Given the description of an element on the screen output the (x, y) to click on. 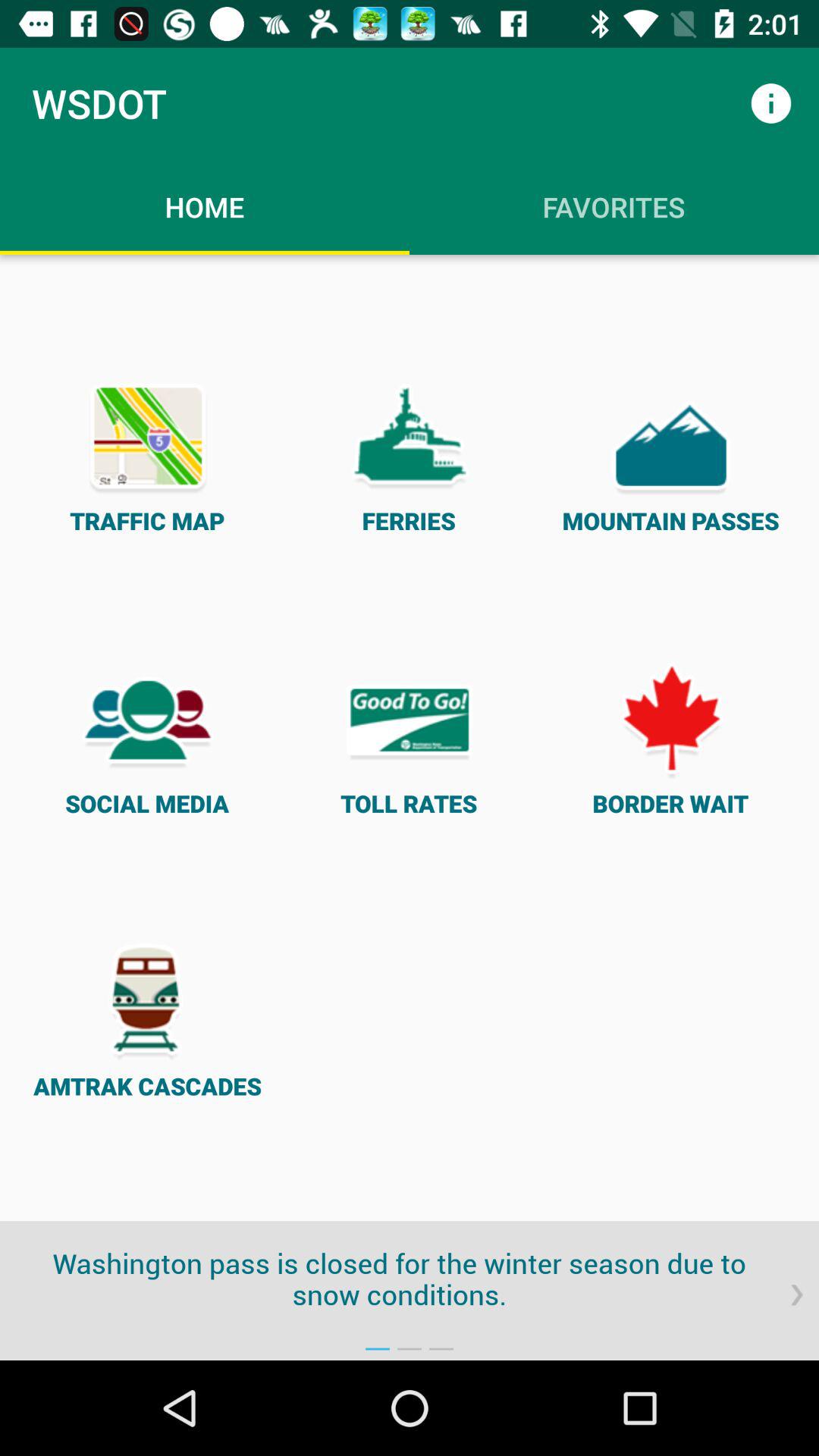
press washington pass is (409, 1279)
